Given the description of an element on the screen output the (x, y) to click on. 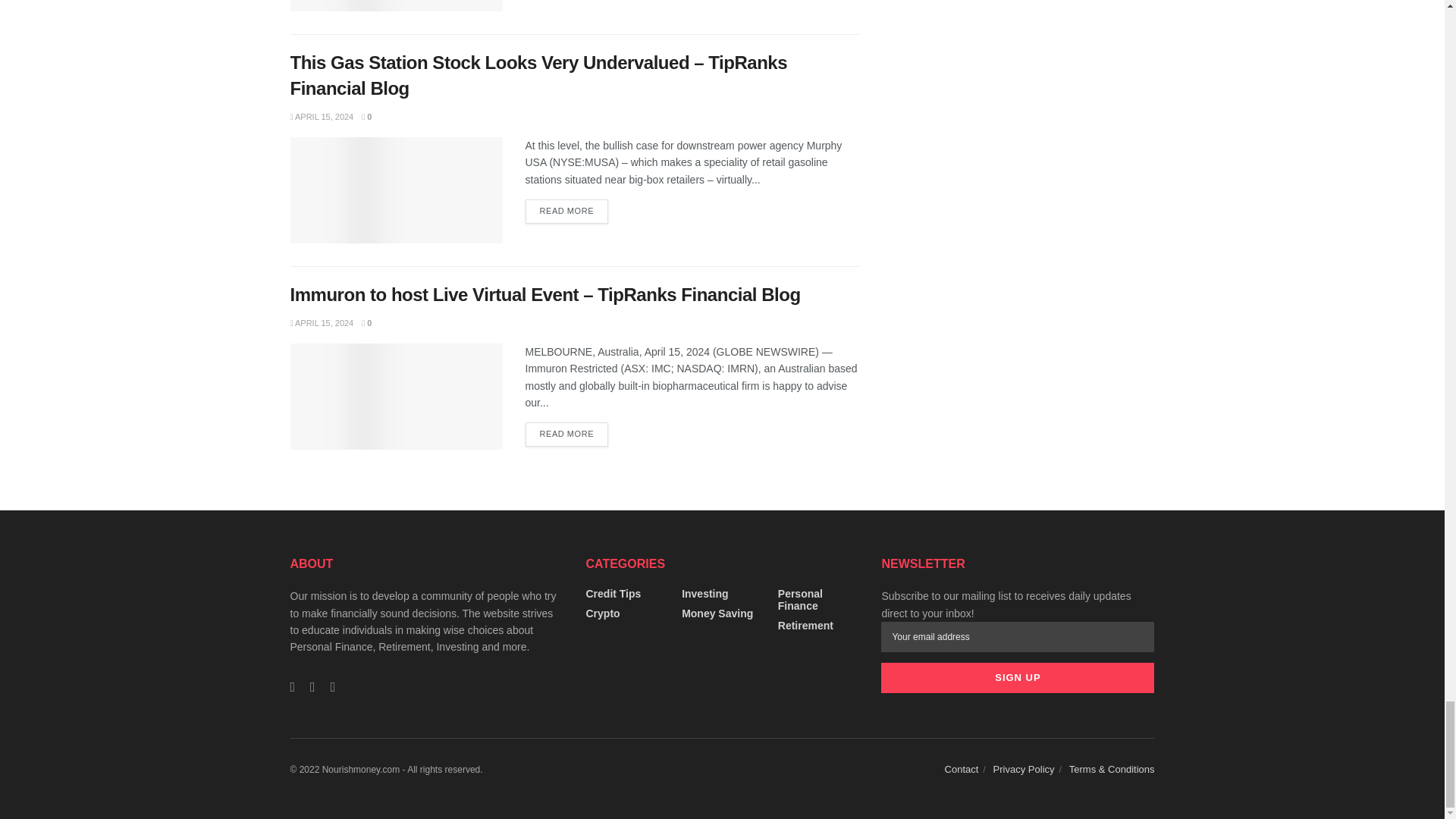
Sign up (1017, 677)
